Given the description of an element on the screen output the (x, y) to click on. 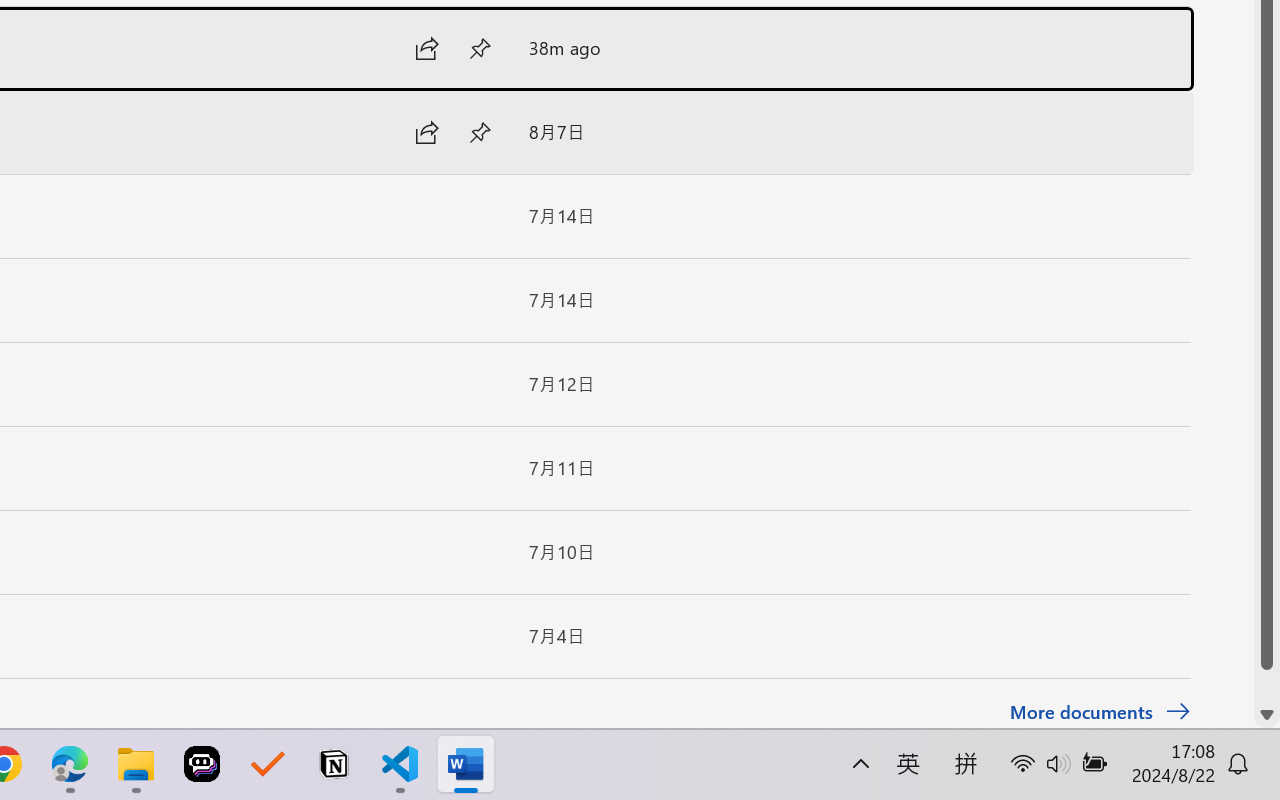
More documents (1100, 712)
Page down (1267, 686)
Line down (1267, 715)
Pin this item to the list (480, 636)
